Given the description of an element on the screen output the (x, y) to click on. 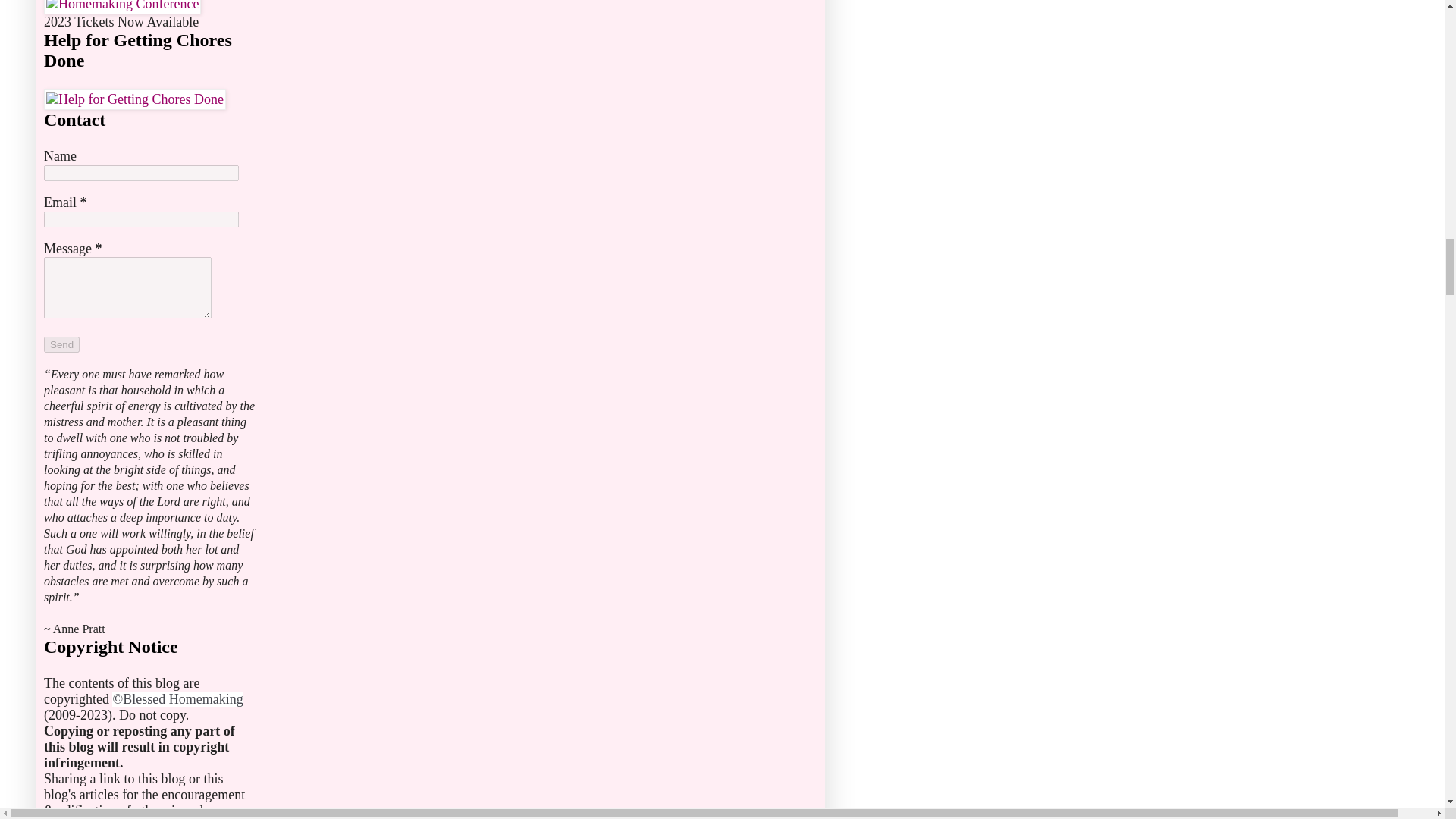
Send (61, 344)
